Given the description of an element on the screen output the (x, y) to click on. 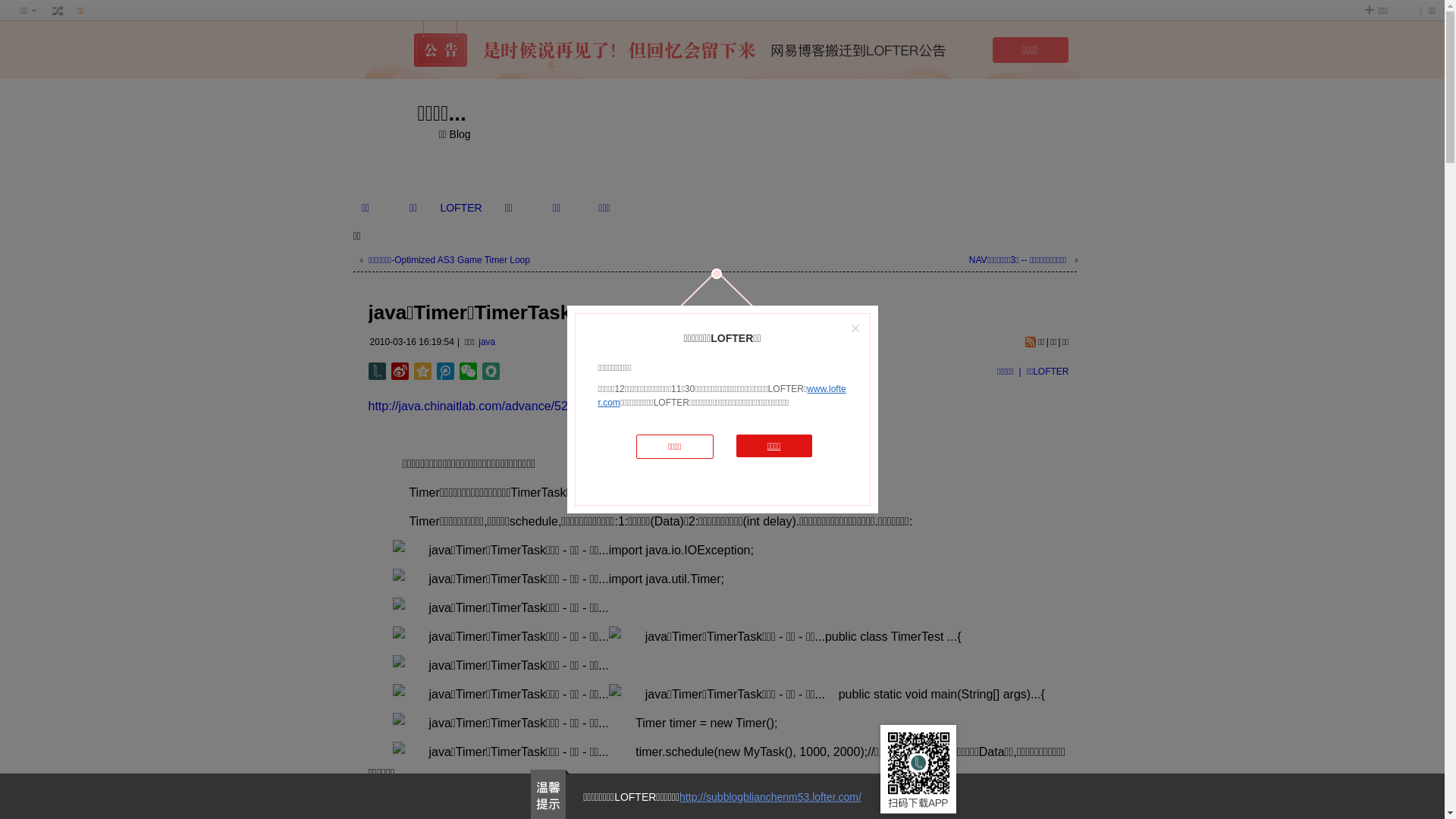
http://java.chinaitlab.com/advance/525535.html Element type: text (494, 405)
www.lofter.com Element type: text (721, 395)
http://subblogblianchenm53.lofter.com/ Element type: text (770, 796)
LOFTER Element type: text (460, 207)
java Element type: text (486, 341)
  Element type: text (58, 10)
